Given the description of an element on the screen output the (x, y) to click on. 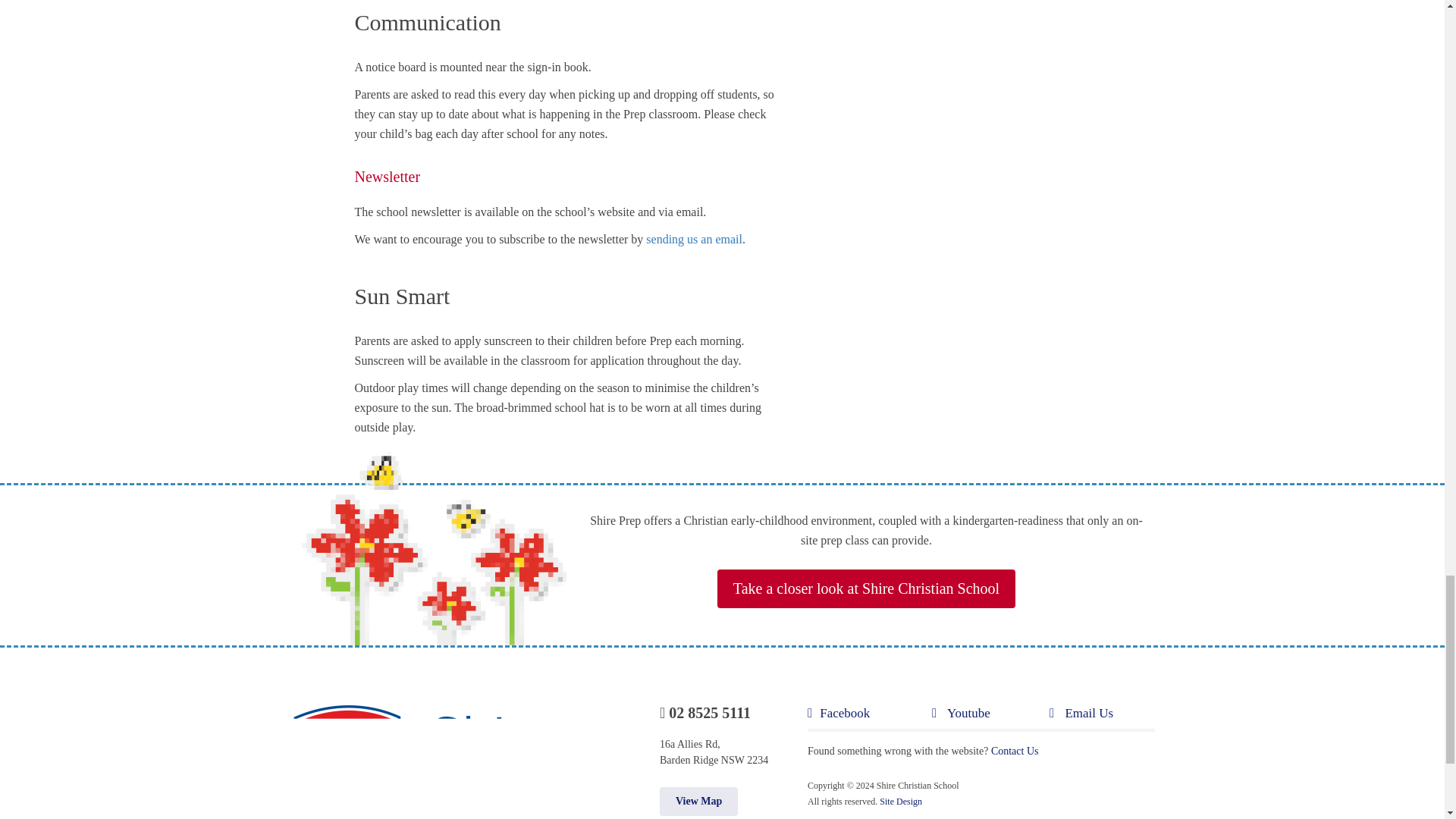
sending us an email (694, 238)
Email Us (1101, 716)
Facebook (869, 716)
Youtube (990, 716)
Site Design (900, 801)
Contact Us (1015, 750)
Take a closer look at Shire Christian School (865, 588)
View Map (698, 801)
